Given the description of an element on the screen output the (x, y) to click on. 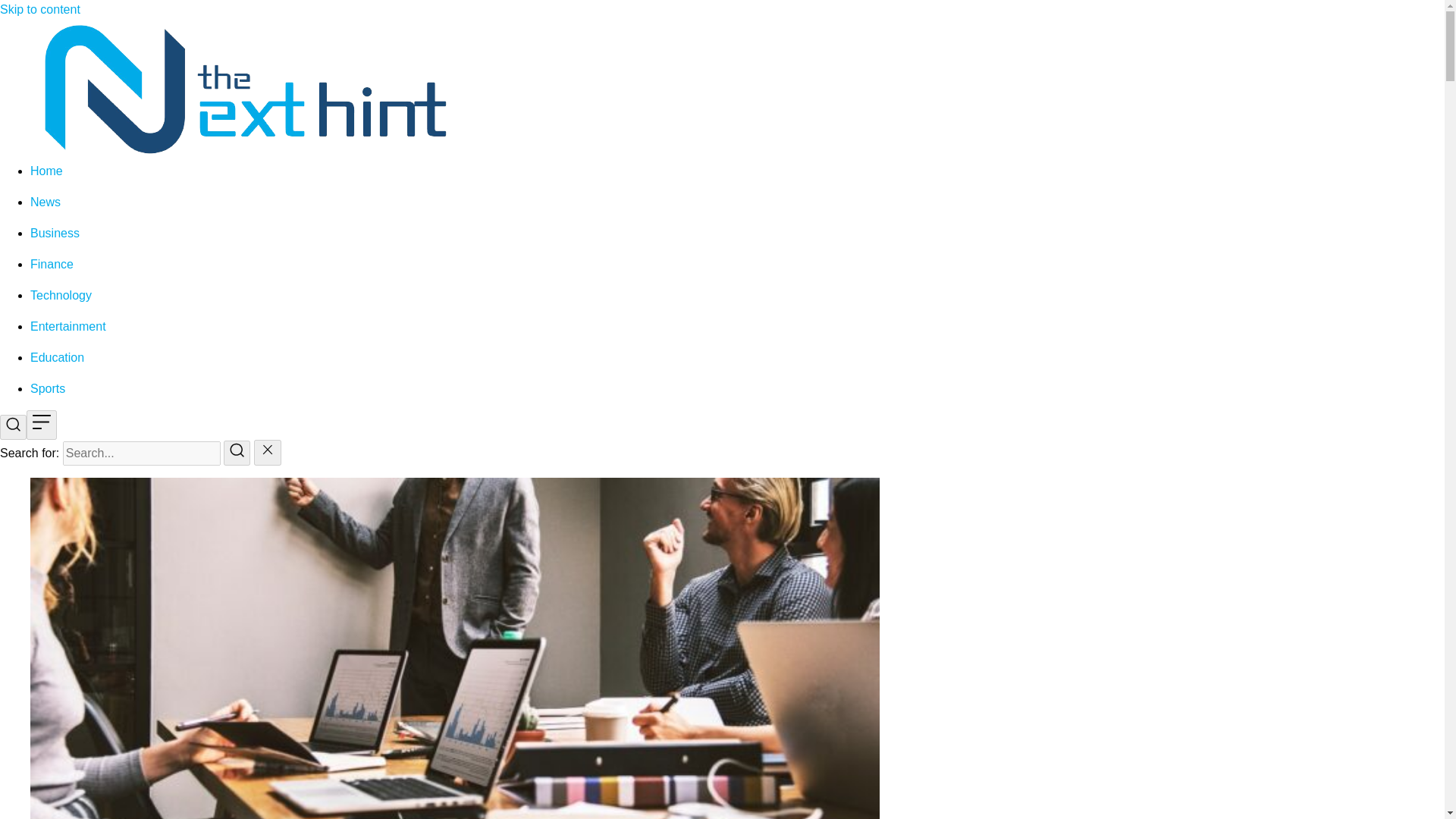
Skip to content (40, 9)
Finance (52, 264)
Home (46, 170)
News (45, 201)
Sports (47, 388)
Education (57, 357)
Business (55, 232)
Entertainment (68, 326)
Technology (60, 295)
